Given the description of an element on the screen output the (x, y) to click on. 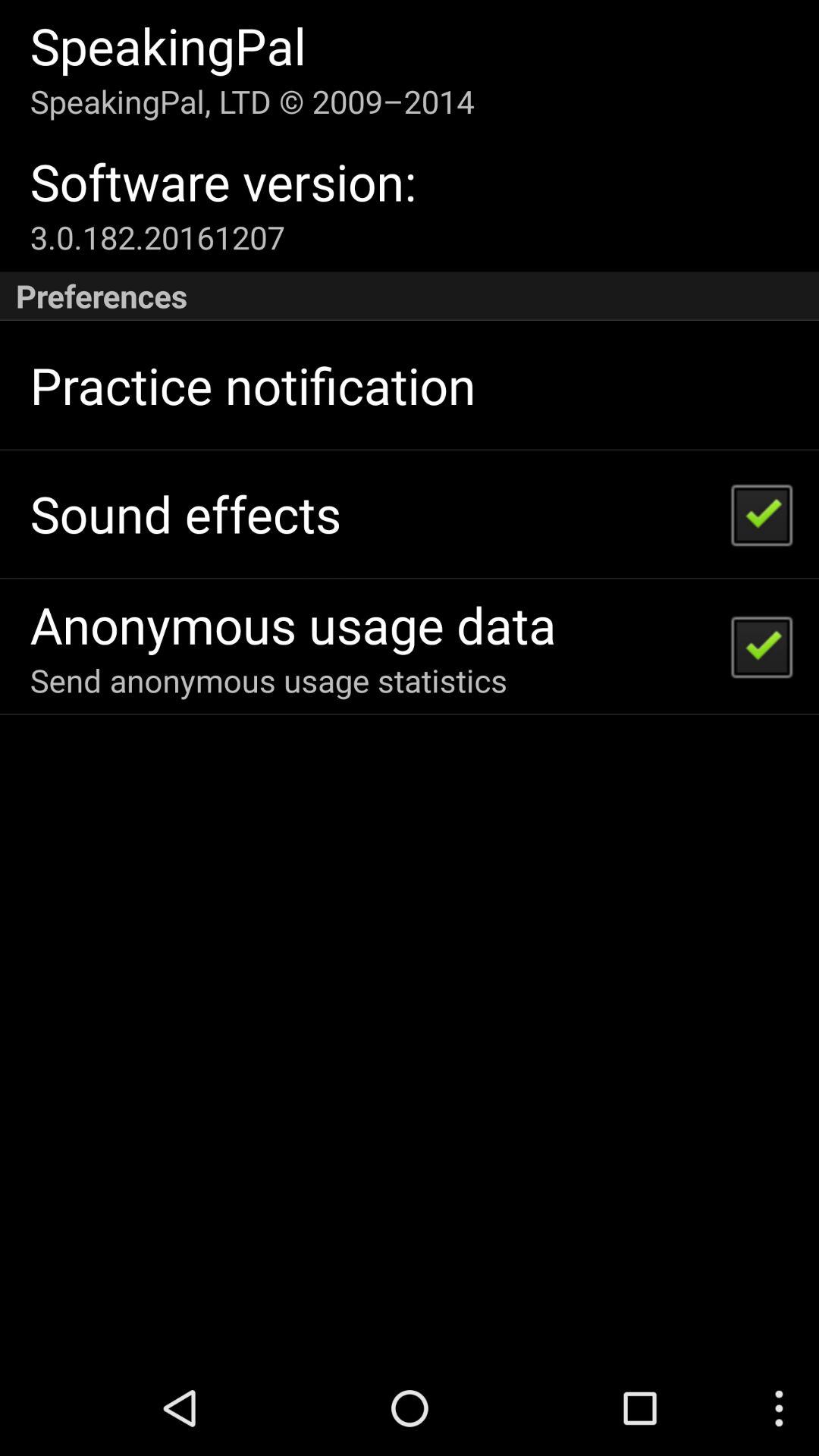
turn on preferences icon (409, 295)
